Given the description of an element on the screen output the (x, y) to click on. 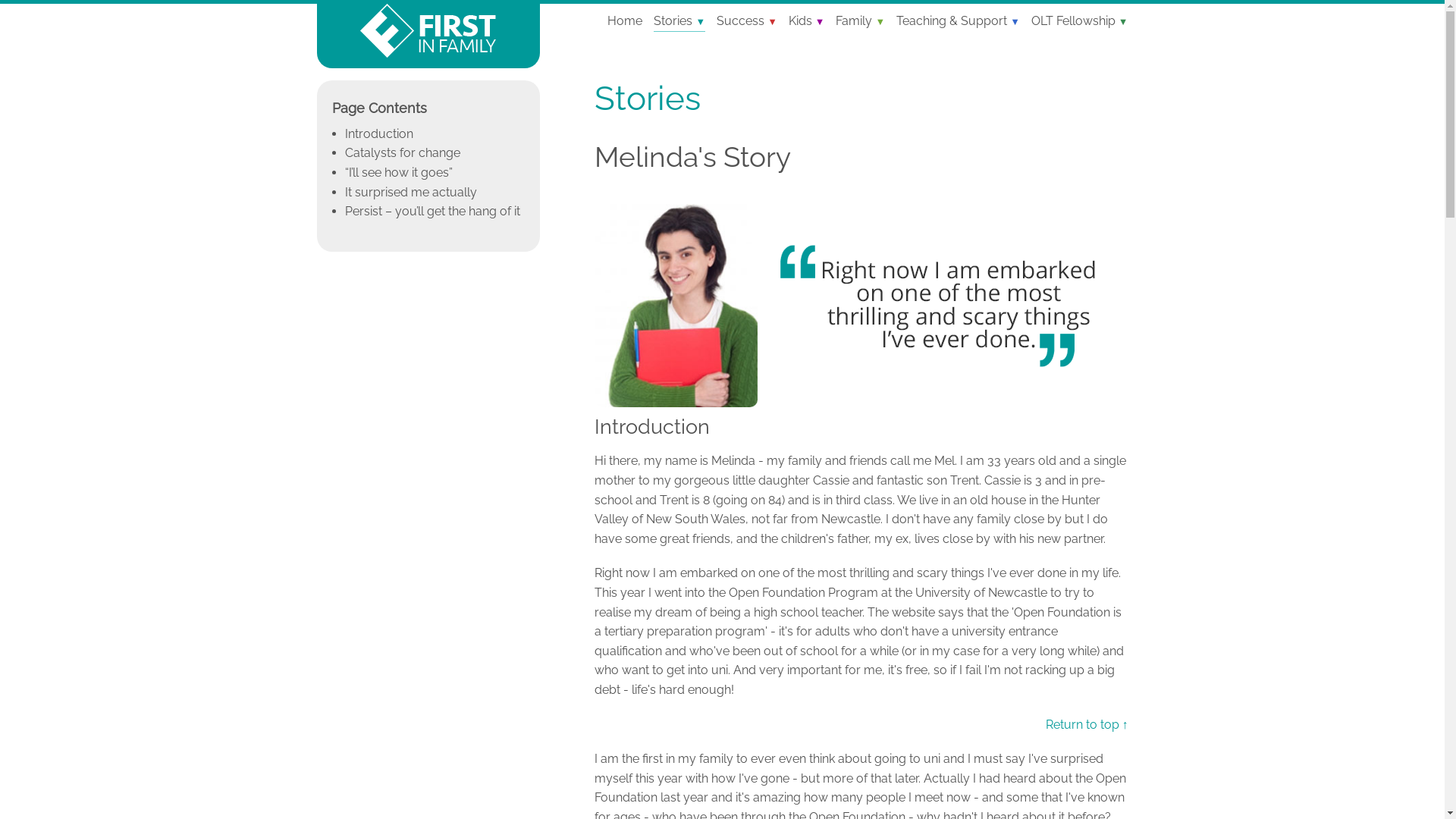
Catalysts for change Element type: text (402, 152)
Introduction Element type: text (379, 133)
Home Element type: text (624, 21)
It surprised me actually Element type: text (410, 192)
